Given the description of an element on the screen output the (x, y) to click on. 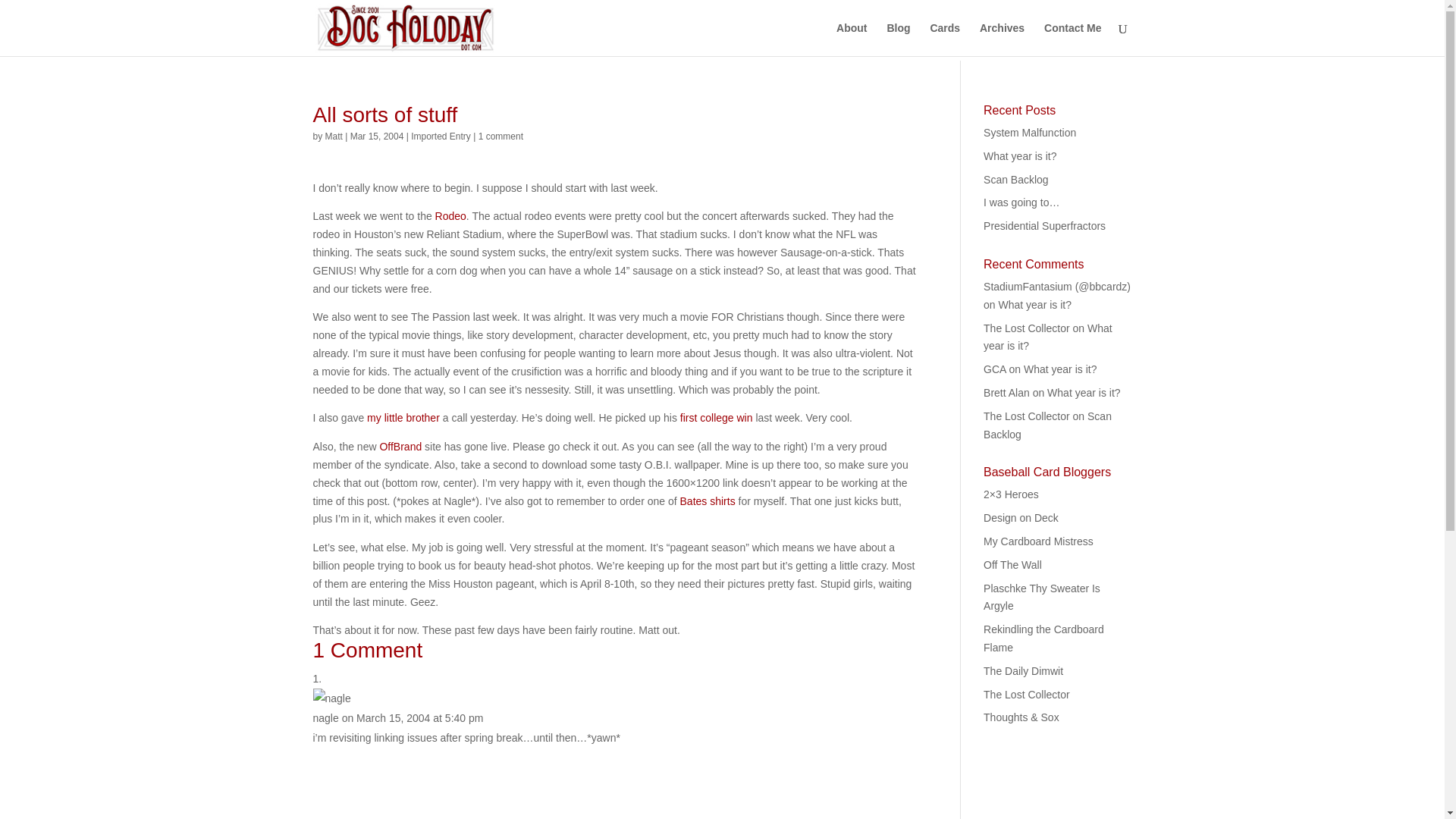
Cards (944, 39)
The Lost Collector (1027, 694)
What year is it? (1020, 155)
Posts by Matt (333, 136)
Bates shirts (707, 500)
first college win (715, 417)
What year is it? (1034, 304)
Scan Backlog (1016, 179)
Scan Backlog (1048, 425)
What year is it? (1059, 369)
